Given the description of an element on the screen output the (x, y) to click on. 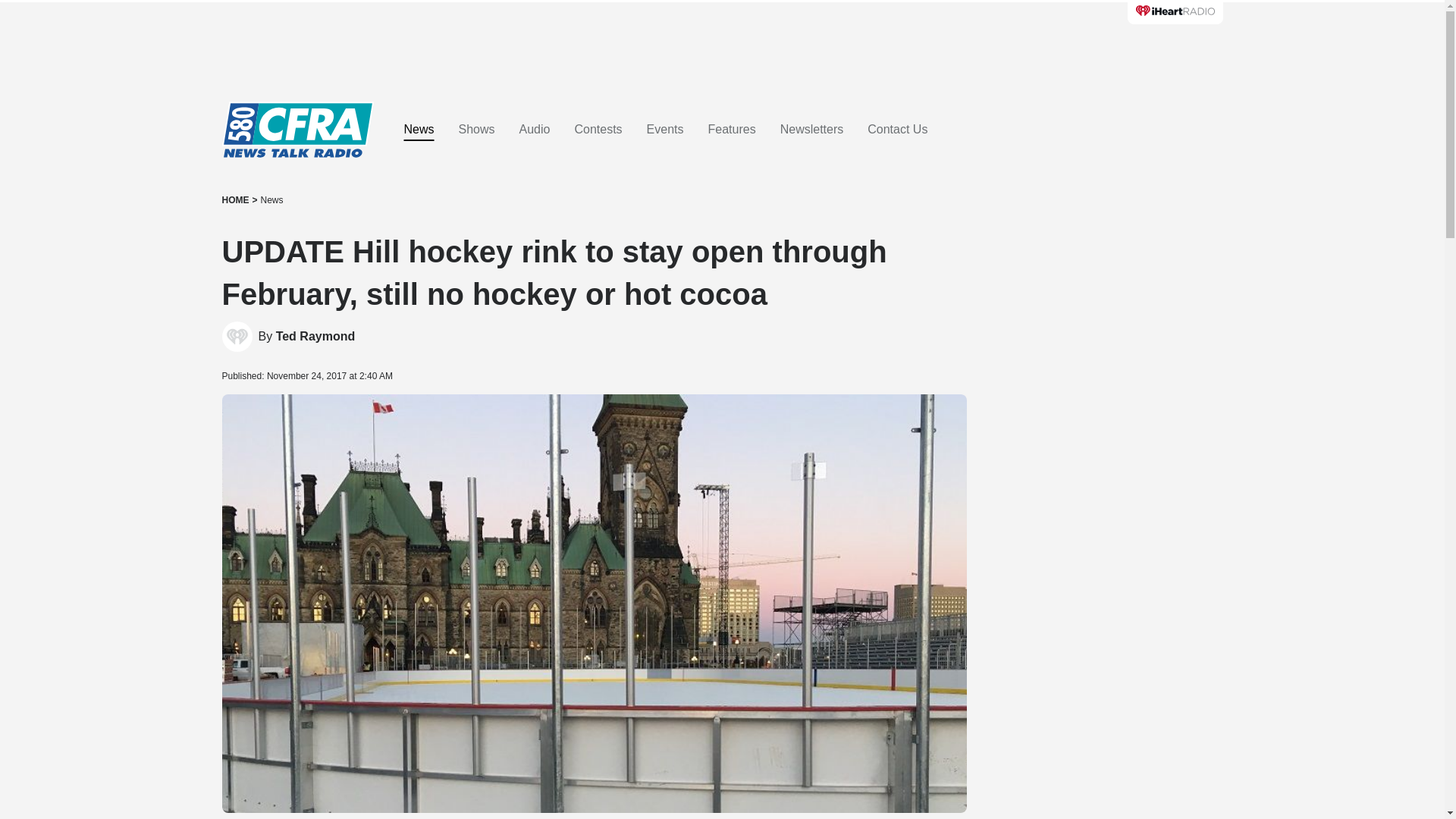
Ted Raymond (315, 336)
Newsletters (812, 129)
News (271, 199)
Contact Us (897, 129)
Features (731, 129)
Contests (597, 129)
3rd party ad content (1106, 349)
Ted Raymond (236, 336)
HOME (234, 199)
3rd party ad content (721, 46)
Ted Raymond (315, 336)
